Given the description of an element on the screen output the (x, y) to click on. 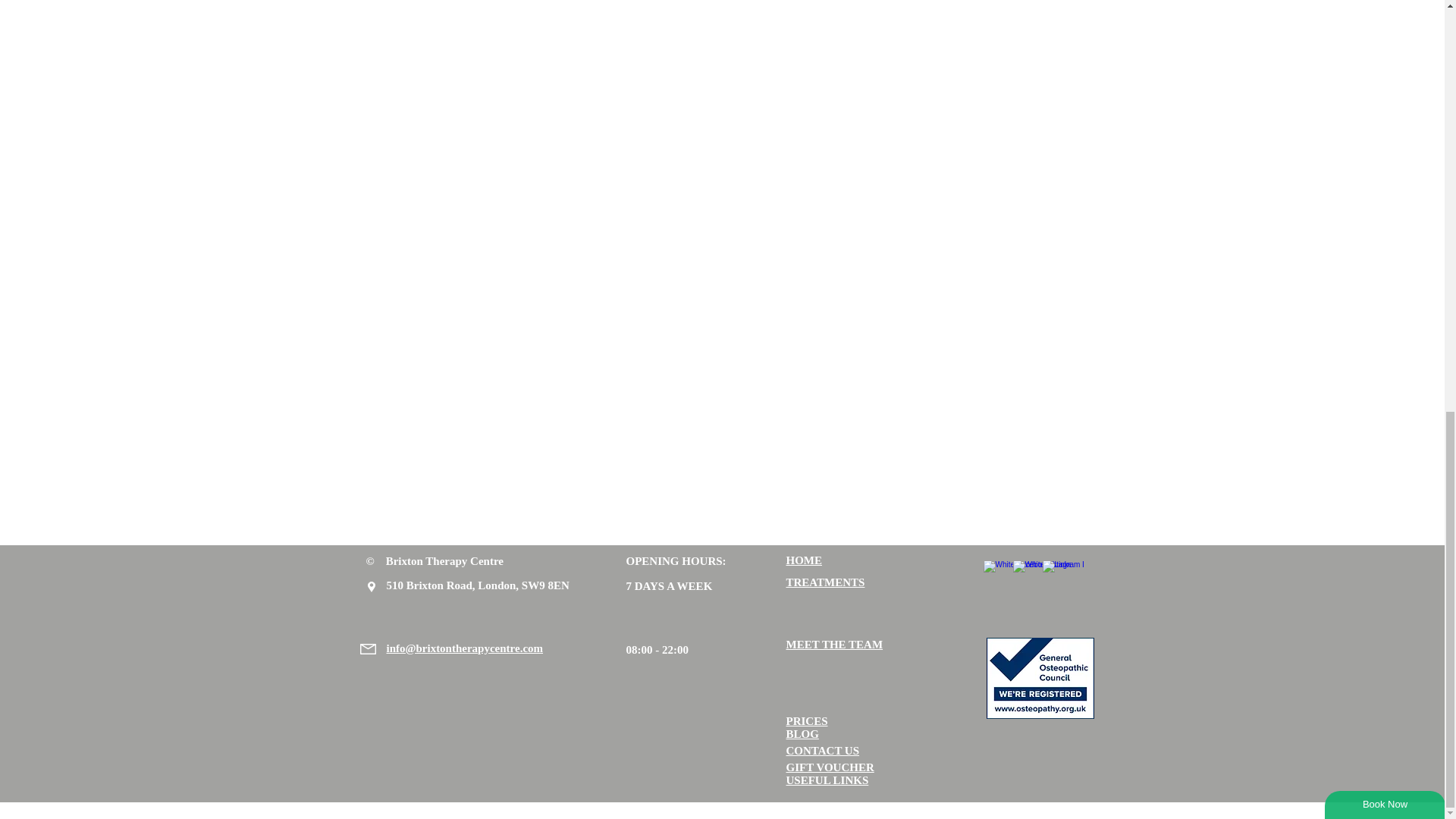
HOME (804, 560)
MEET THE TEAM (834, 644)
PRICES (806, 720)
TREATMENTS (825, 582)
